Given the description of an element on the screen output the (x, y) to click on. 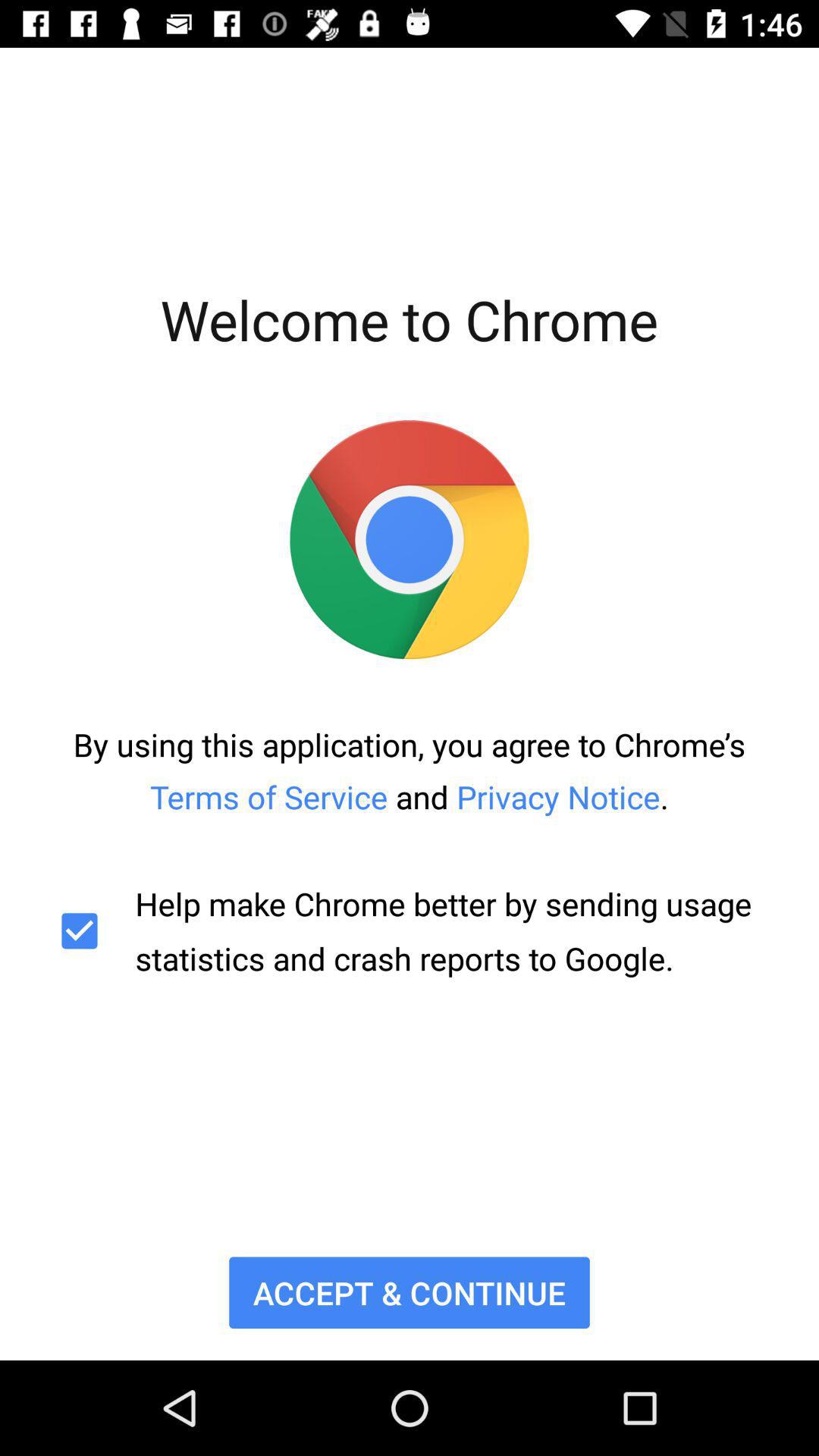
tap the icon below help make chrome (409, 1292)
